Given the description of an element on the screen output the (x, y) to click on. 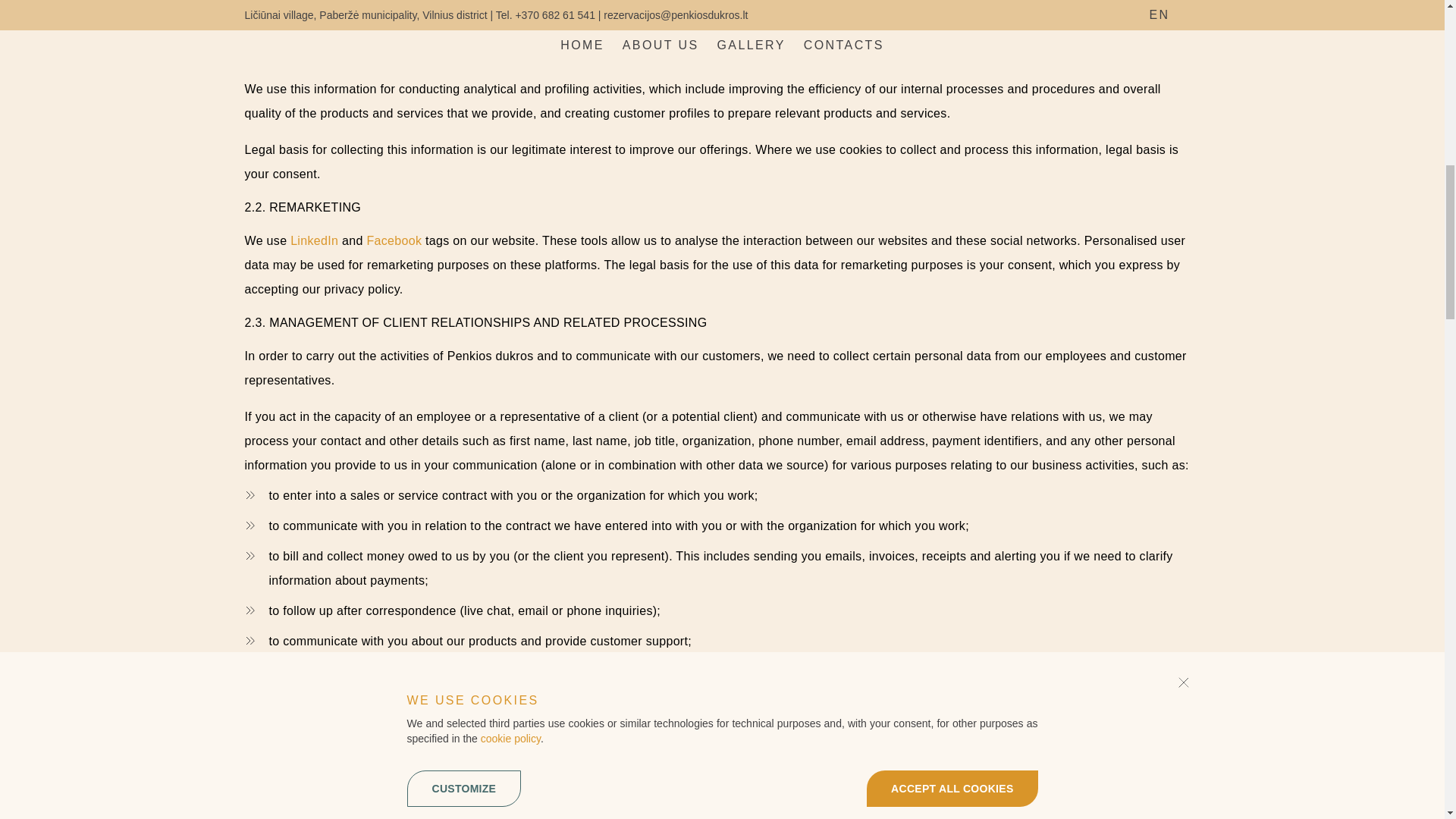
LinkedIn (313, 240)
Facebook (394, 240)
